Given the description of an element on the screen output the (x, y) to click on. 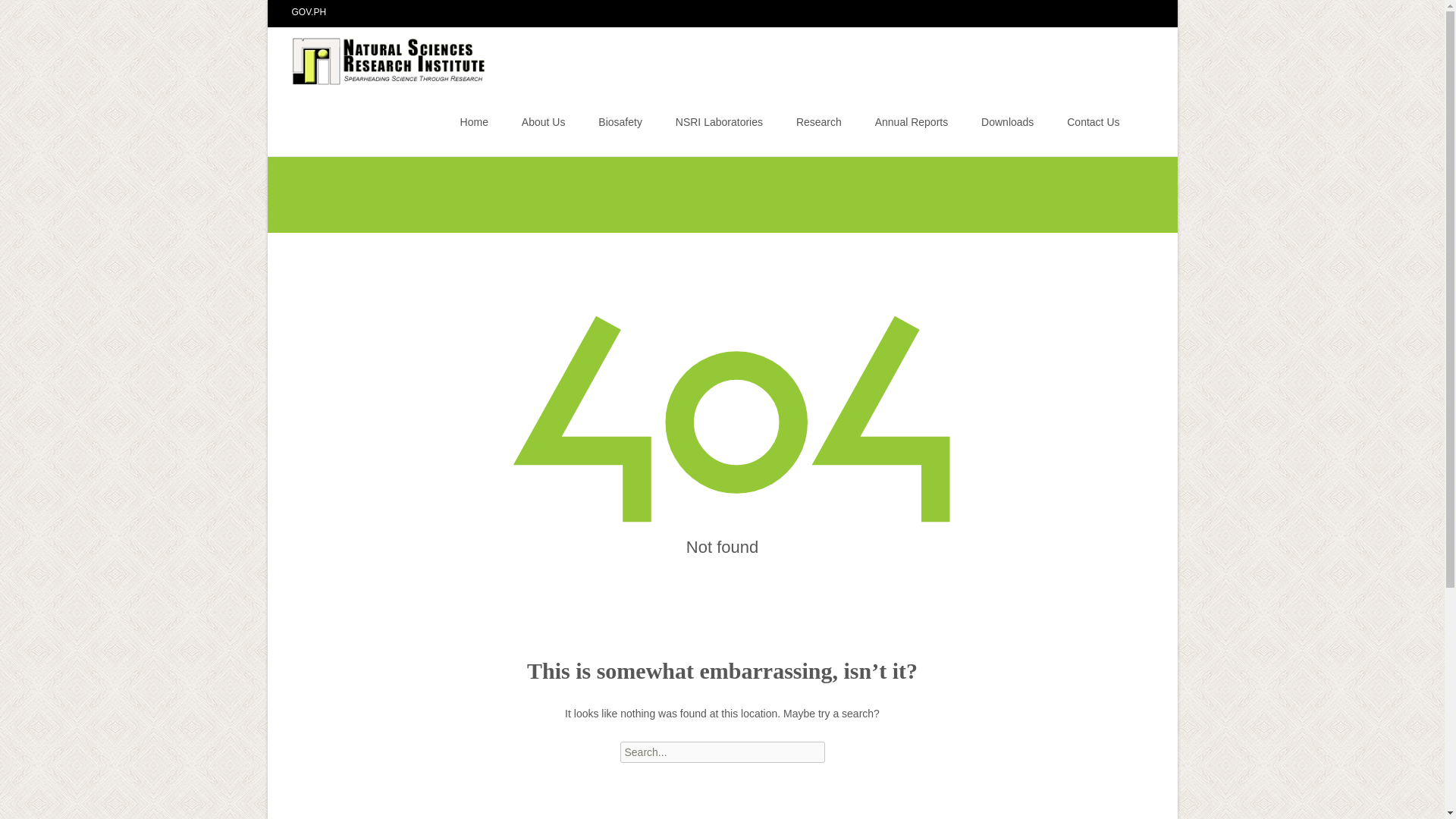
Annual Reports (912, 121)
Search for: (722, 752)
NSRI Laboratories (718, 121)
Search (18, 14)
Search (34, 14)
GOV.PH (308, 11)
Search for: (1139, 123)
Natural Sciences Research Institute (378, 57)
